Given the description of an element on the screen output the (x, y) to click on. 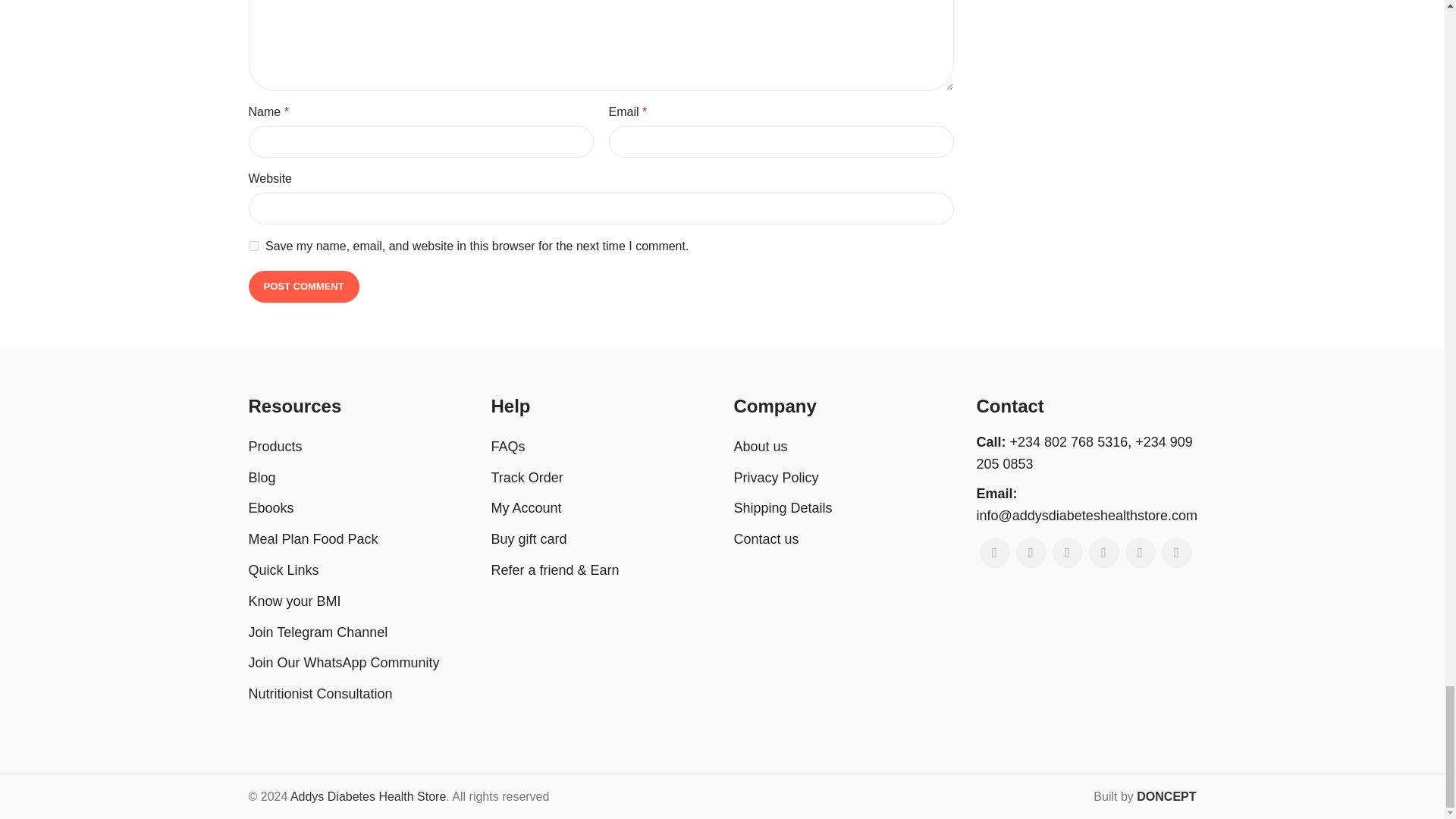
Post Comment (303, 286)
yes (253, 245)
